Given the description of an element on the screen output the (x, y) to click on. 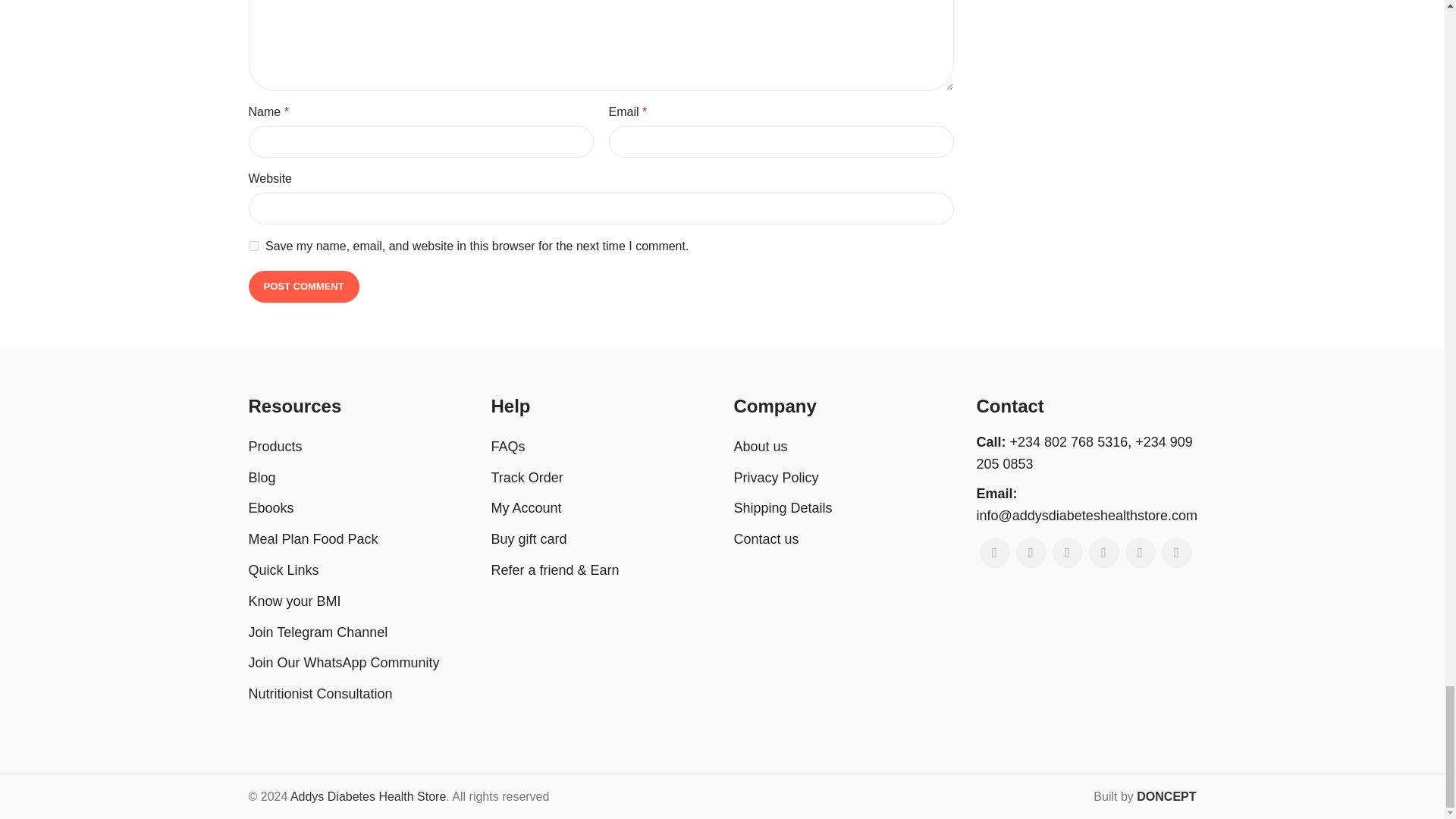
Post Comment (303, 286)
yes (253, 245)
